Given the description of an element on the screen output the (x, y) to click on. 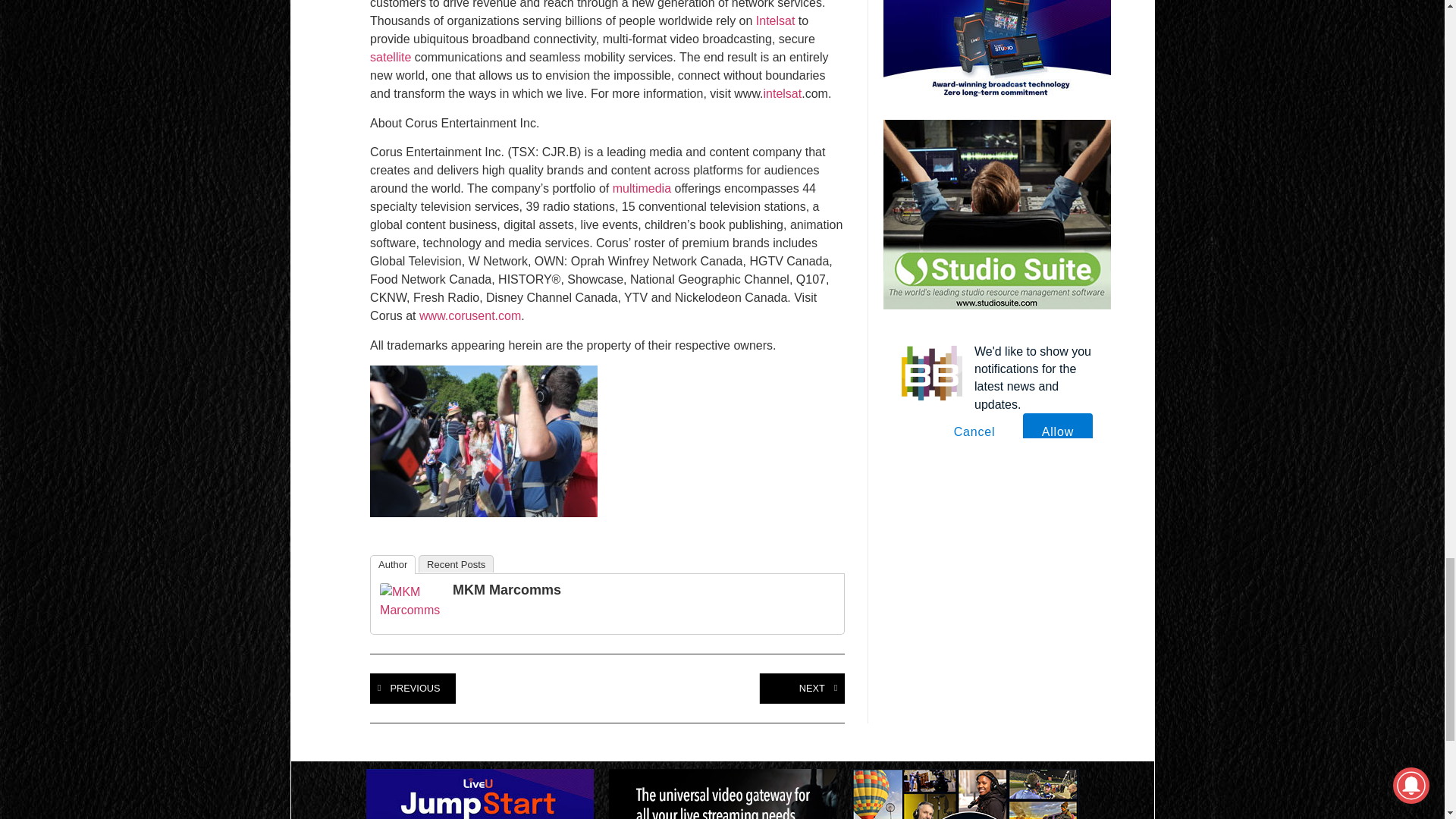
MKM Marcomms (410, 609)
